Given the description of an element on the screen output the (x, y) to click on. 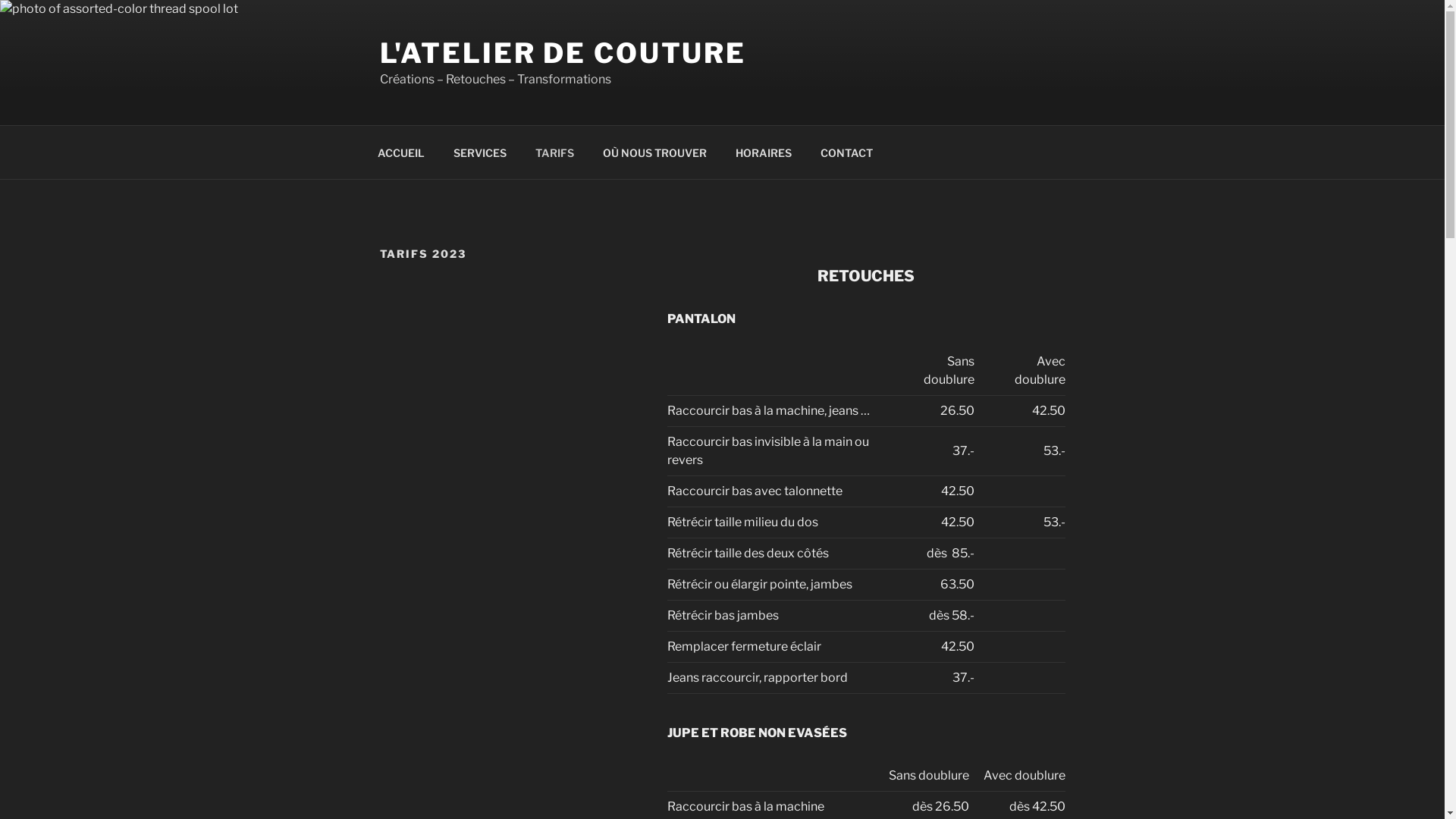
ACCUEIL Element type: text (400, 151)
CONTACT Element type: text (845, 151)
SERVICES Element type: text (479, 151)
HORAIRES Element type: text (762, 151)
L'ATELIER DE COUTURE Element type: text (562, 52)
TARIFS Element type: text (553, 151)
